Given the description of an element on the screen output the (x, y) to click on. 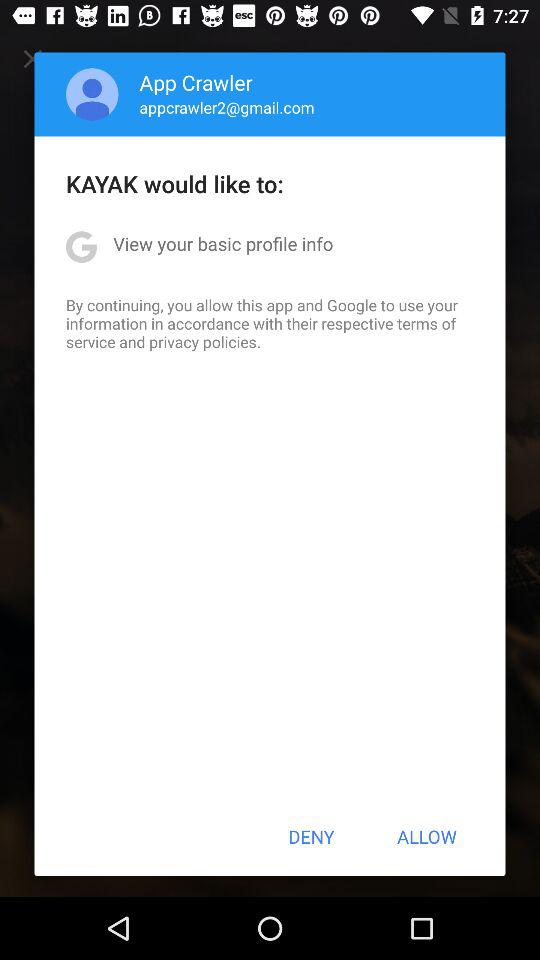
tap app below the by continuing you app (311, 836)
